Given the description of an element on the screen output the (x, y) to click on. 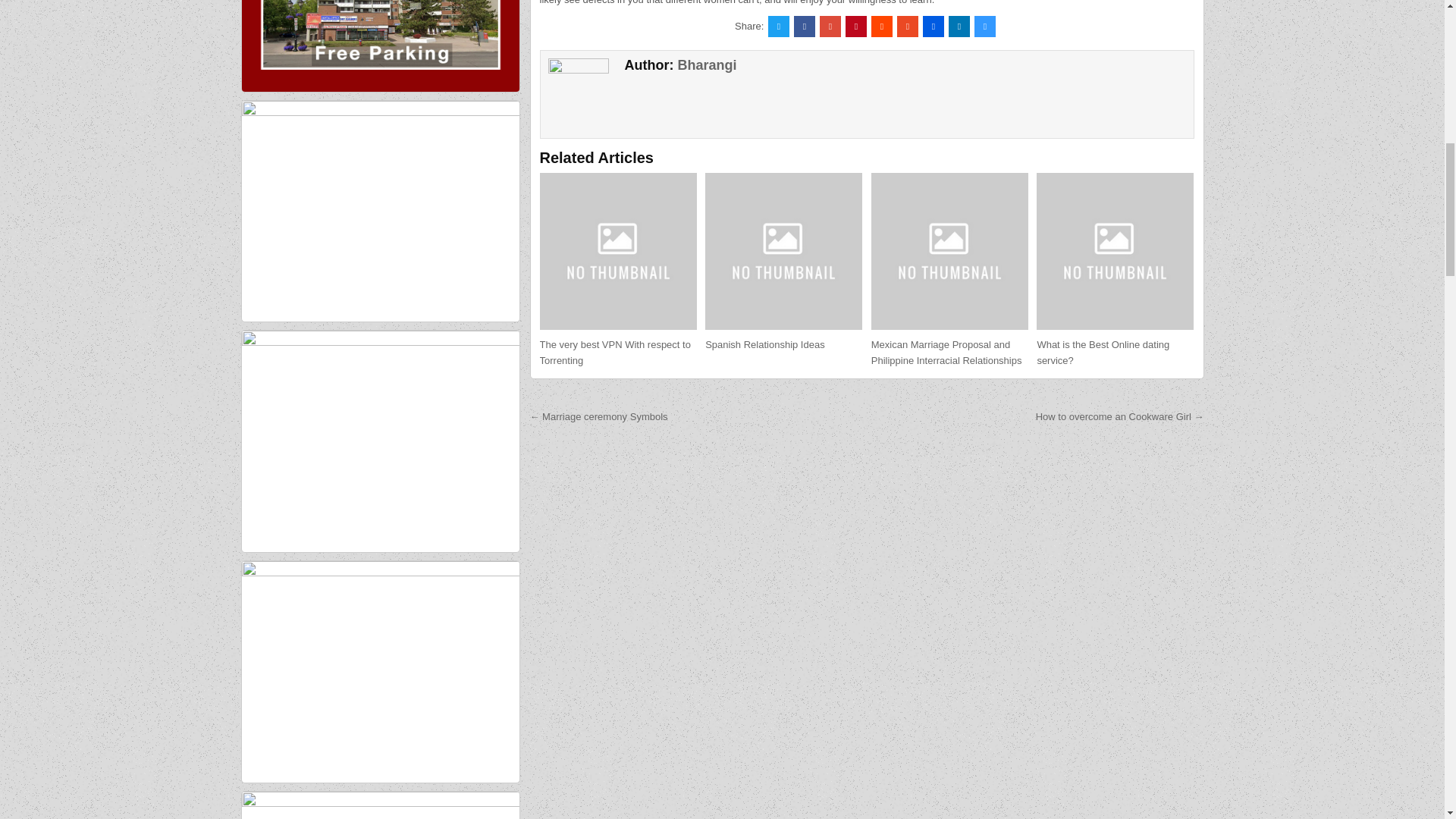
Tweet This! (778, 25)
Share this on Linkedin (959, 25)
Share this on Facebook (804, 25)
Permanent Link to What is the Best Online dating service? (1114, 251)
Permanent Link to Spanish Relationship Ideas (764, 344)
Bharangi (706, 64)
Share this on Delicious (984, 25)
Spanish Relationship Ideas (764, 344)
What is the Best Online dating service? (1102, 352)
Share this on Digg (933, 25)
Permanent Link to Spanish Relationship Ideas (782, 251)
